Given the description of an element on the screen output the (x, y) to click on. 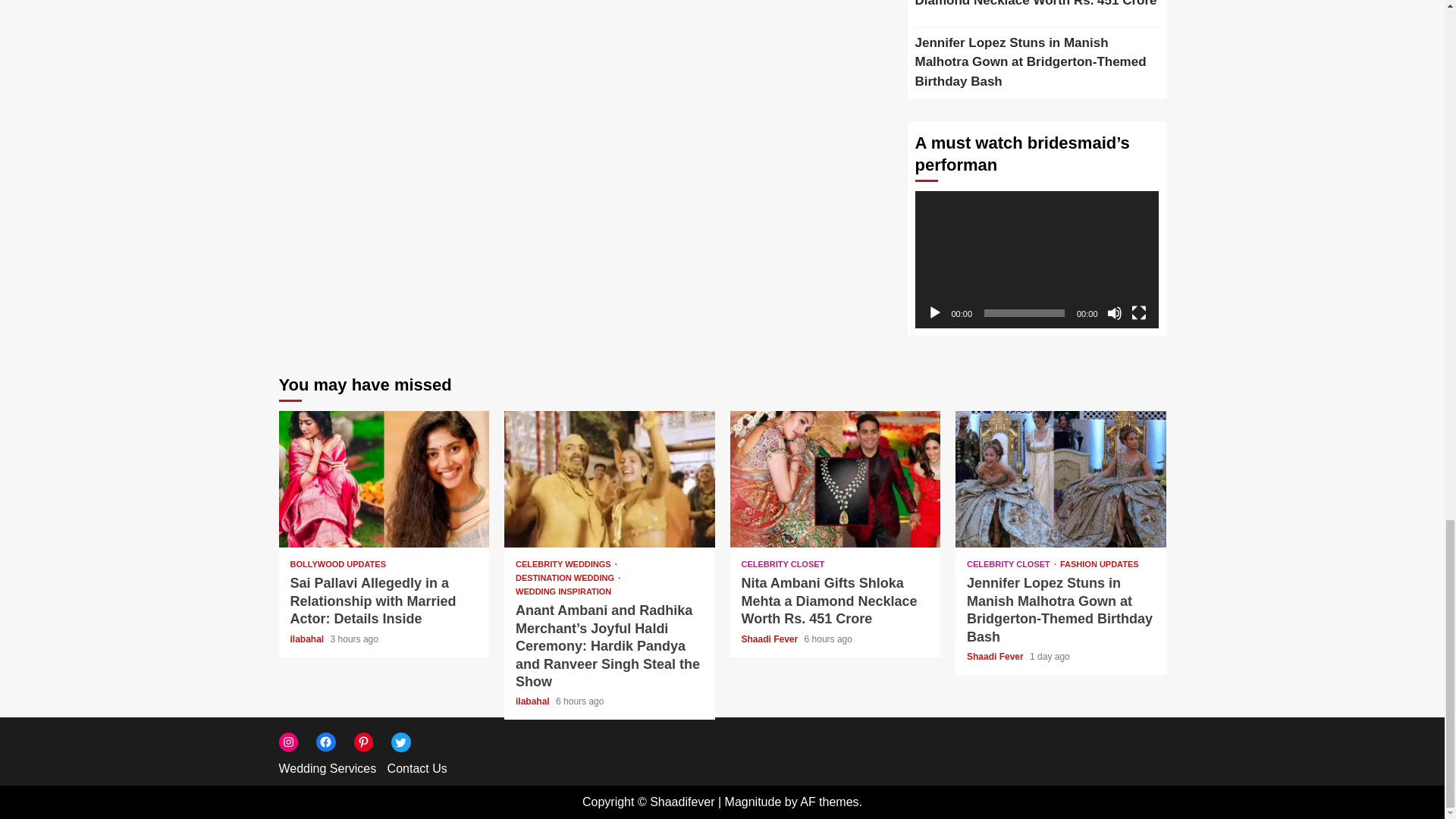
Fullscreen (1139, 313)
Play (934, 313)
Mute (1114, 313)
